Given the description of an element on the screen output the (x, y) to click on. 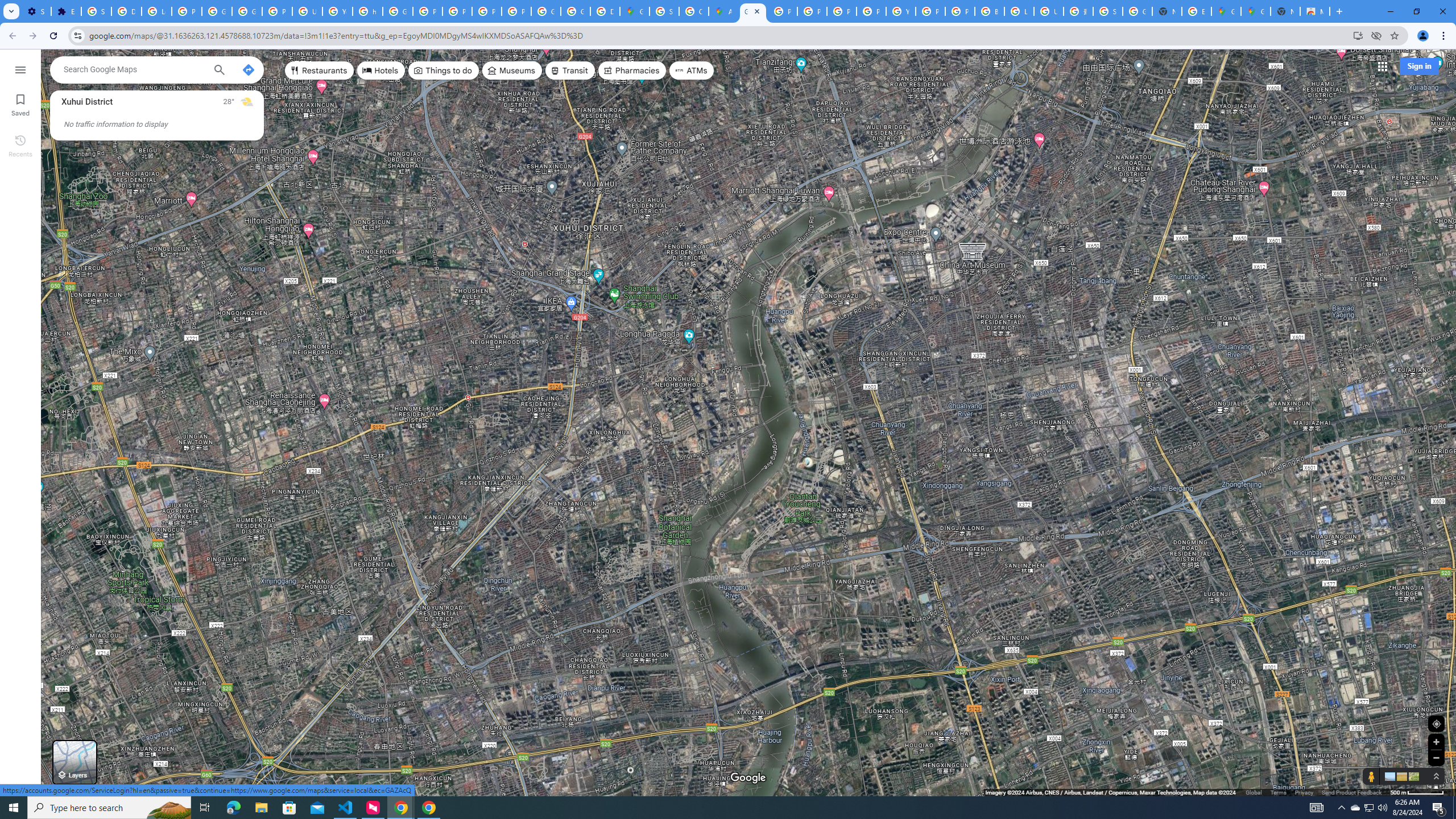
Zoom out (1436, 757)
YouTube (337, 11)
Show imagery (1412, 776)
Delete photos & videos - Computer - Google Photos Help (126, 11)
Show Street View coverage (1371, 776)
Install Google Maps (1358, 35)
Layers (74, 762)
Transit (569, 70)
